Given the description of an element on the screen output the (x, y) to click on. 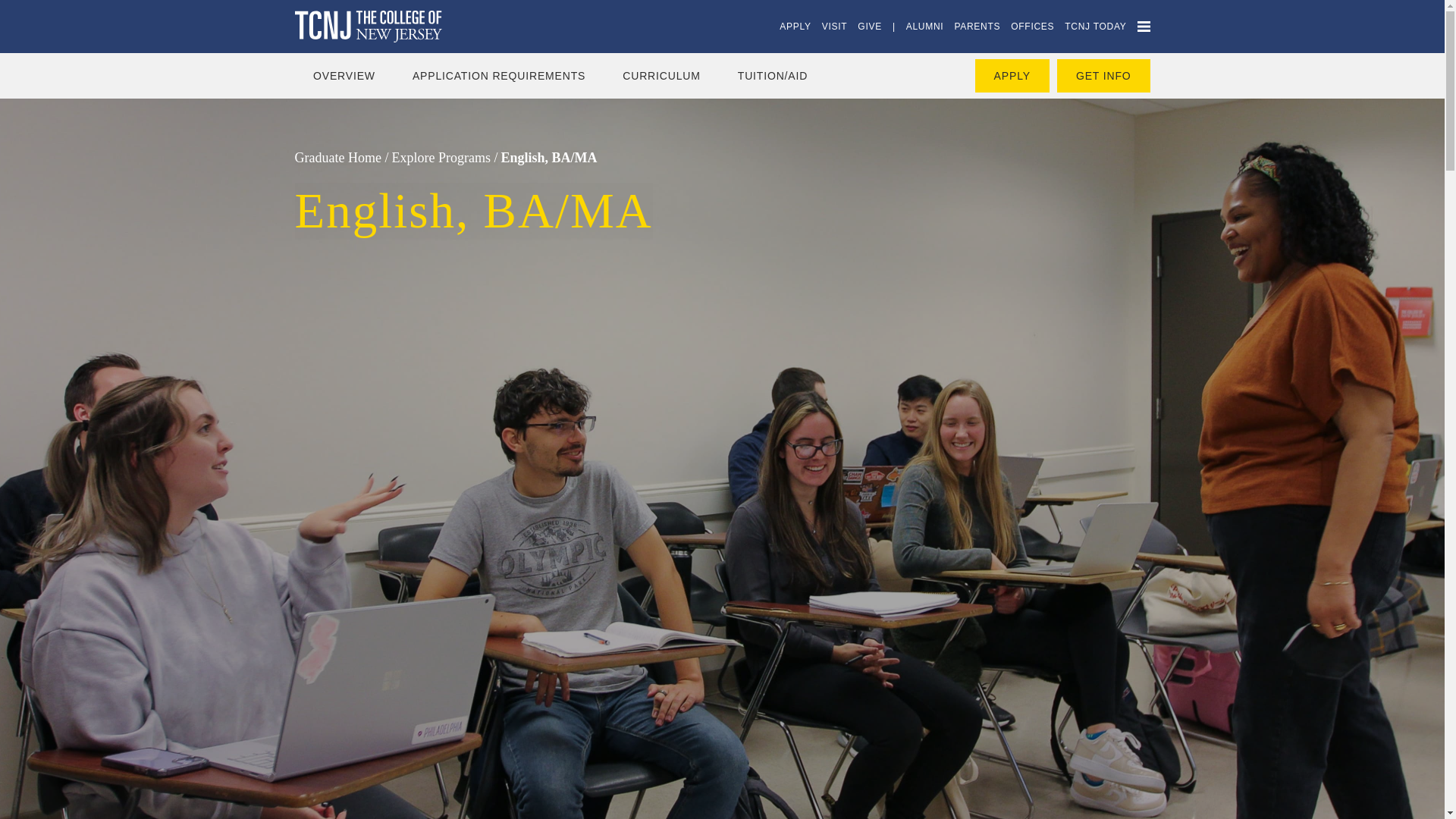
submit (21, 7)
OVERVIEW (344, 75)
APPLICATION REQUIREMENTS (498, 75)
